Given the description of an element on the screen output the (x, y) to click on. 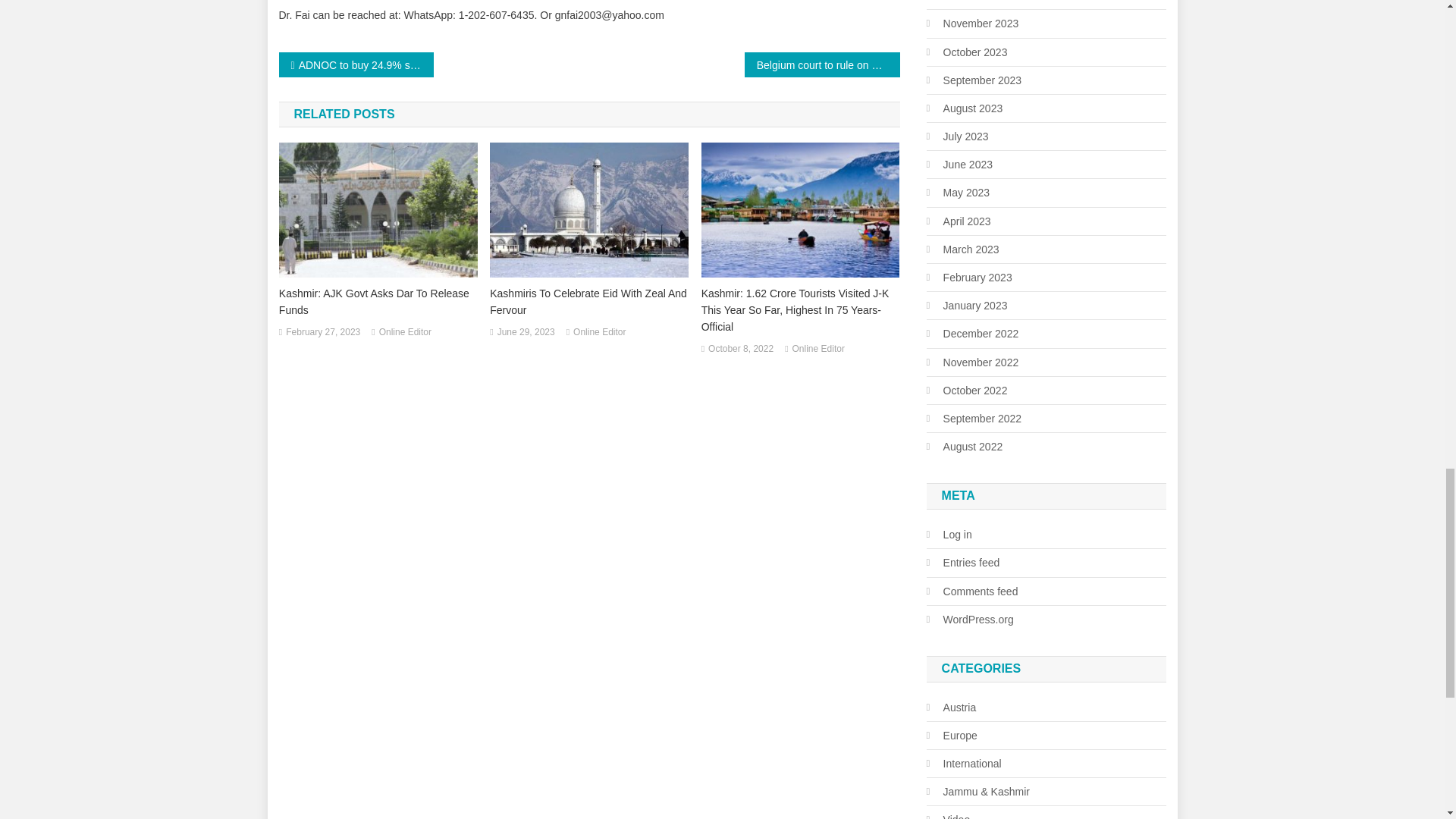
June 29, 2023 (525, 332)
Online Editor (404, 332)
Kashmiris To Celebrate Eid With Zeal And Fervour (588, 301)
Kashmir: AJK Govt Asks Dar To Release Funds (378, 301)
February 27, 2023 (322, 332)
